Given the description of an element on the screen output the (x, y) to click on. 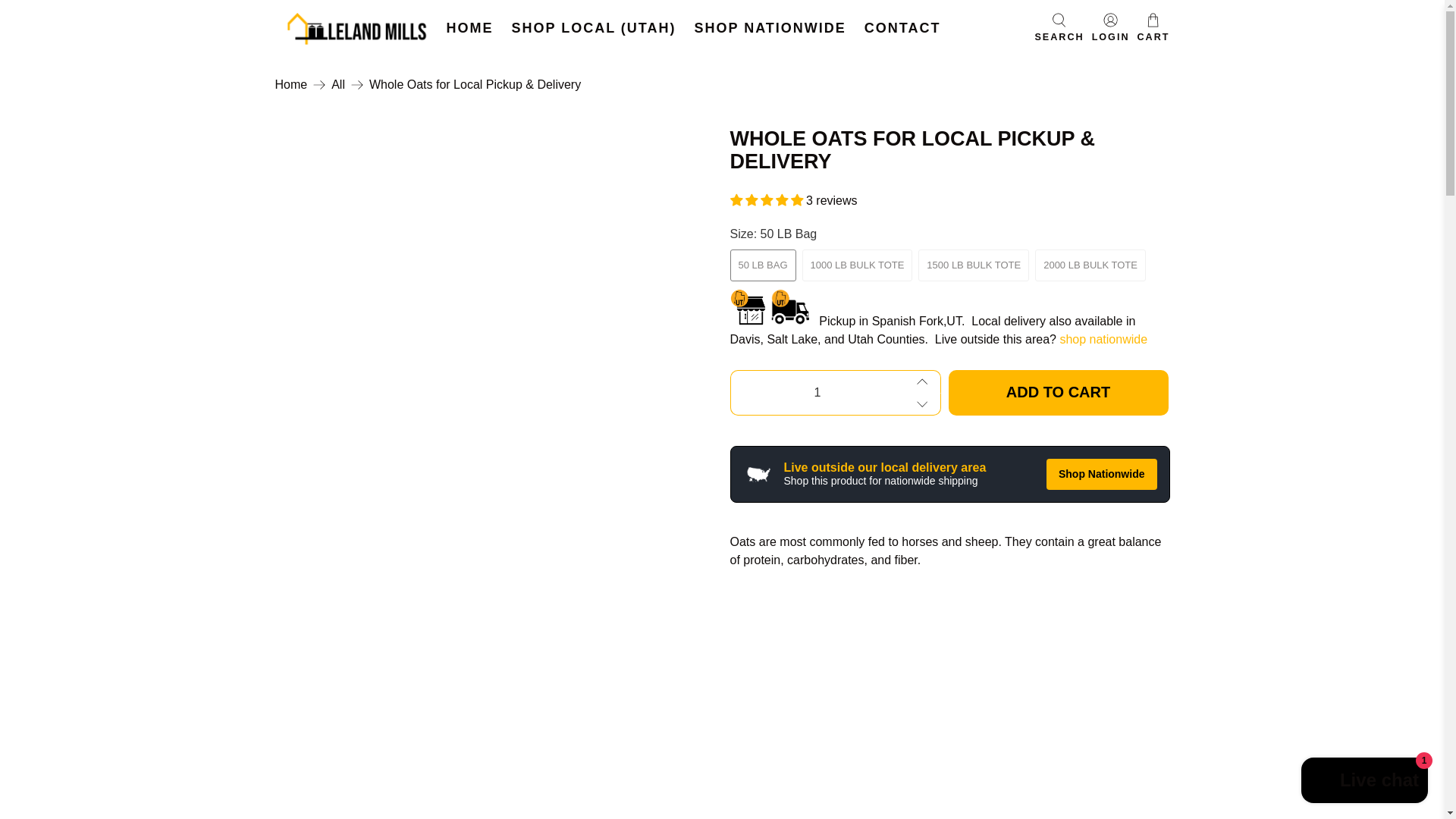
Leland Mills (355, 28)
SHOP NATIONWIDE (770, 27)
Shopify online store chat (1364, 781)
Whole Oats for Nationwide Shipping (1103, 338)
SEARCH (1058, 28)
1 (816, 392)
CONTACT (903, 27)
Leland Mills (291, 84)
CART (1153, 29)
HOME (469, 27)
